Given the description of an element on the screen output the (x, y) to click on. 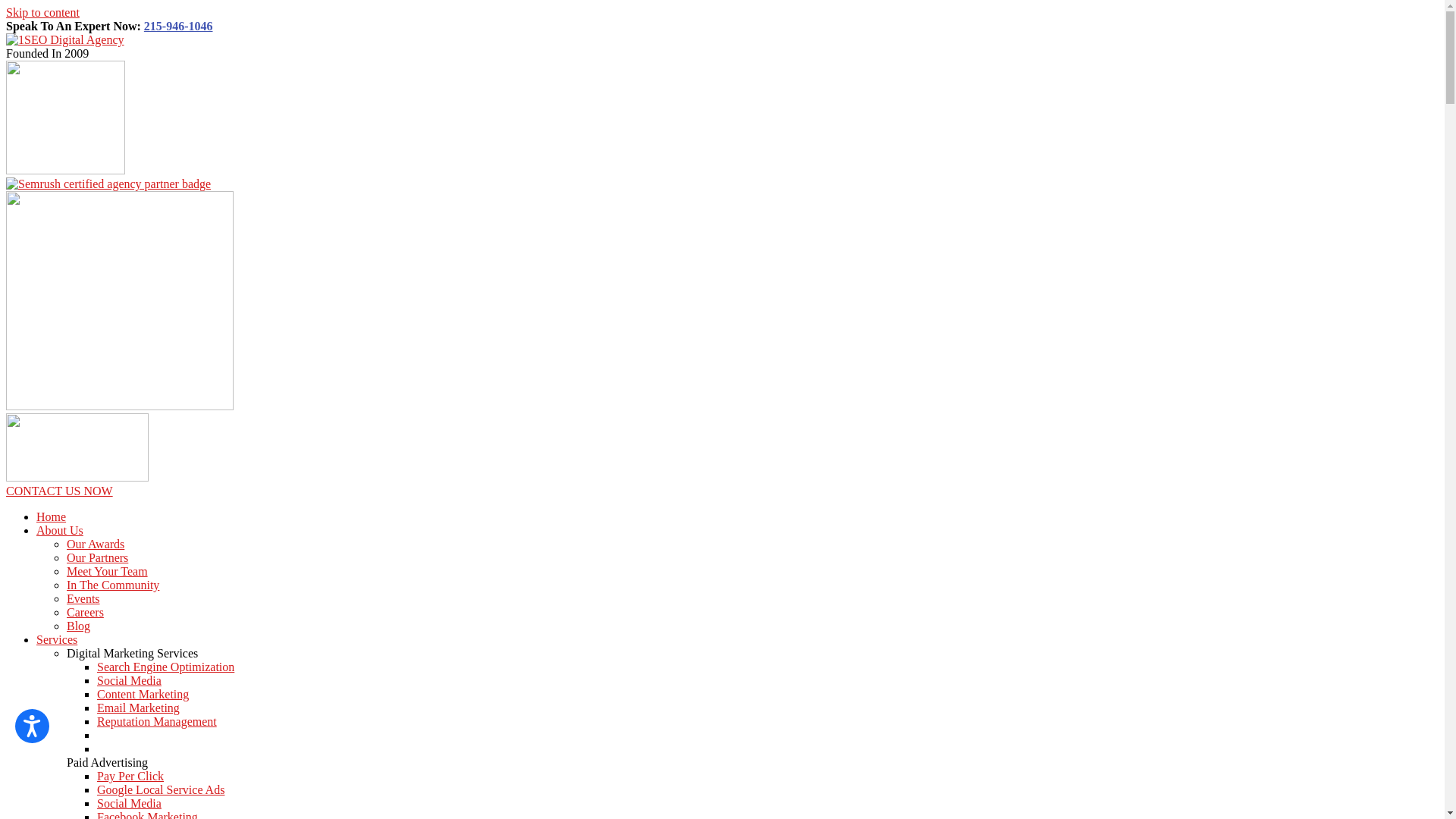
215-946-1046 Element type: text (178, 25)
Social Media Element type: text (129, 680)
Skip to content Element type: text (42, 12)
In The Community Element type: text (112, 584)
Our Partners Element type: text (97, 557)
Careers Element type: text (84, 611)
Home Element type: text (50, 516)
Search Engine Optimization Element type: text (165, 666)
Services Element type: text (56, 639)
Reputation Management Element type: text (156, 721)
Our Awards Element type: text (95, 543)
Meet Your Team Element type: text (106, 570)
Pay Per Click Element type: text (130, 775)
Events Element type: text (83, 598)
About Us Element type: text (59, 530)
Blog Element type: text (78, 625)
Social Media Element type: text (129, 803)
Content Marketing Element type: text (142, 693)
Email Marketing Element type: text (138, 707)
Google Local Service Ads Element type: text (160, 789)
1SEO Digital Agency Element type: hover (65, 39)
CONTACT US NOW Element type: text (59, 490)
